Given the description of an element on the screen output the (x, y) to click on. 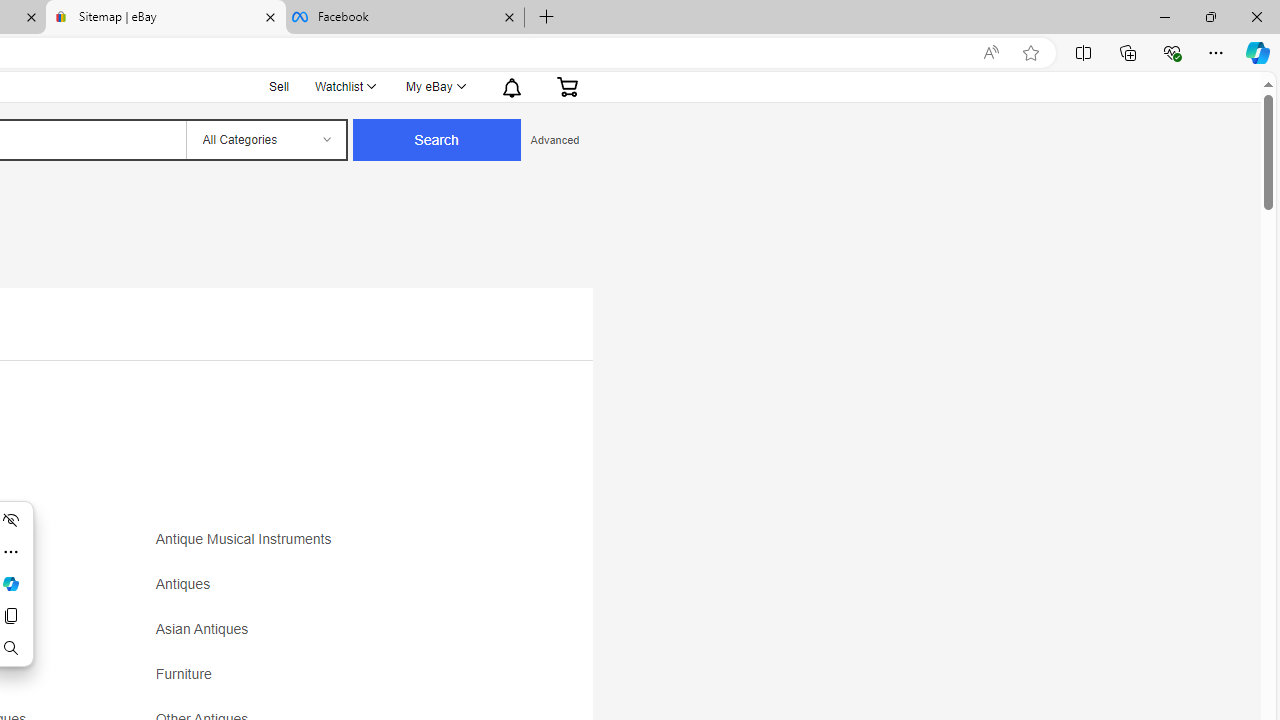
Asian Antiques (206, 629)
Your shopping cart (567, 86)
My eBay (434, 86)
